Given the description of an element on the screen output the (x, y) to click on. 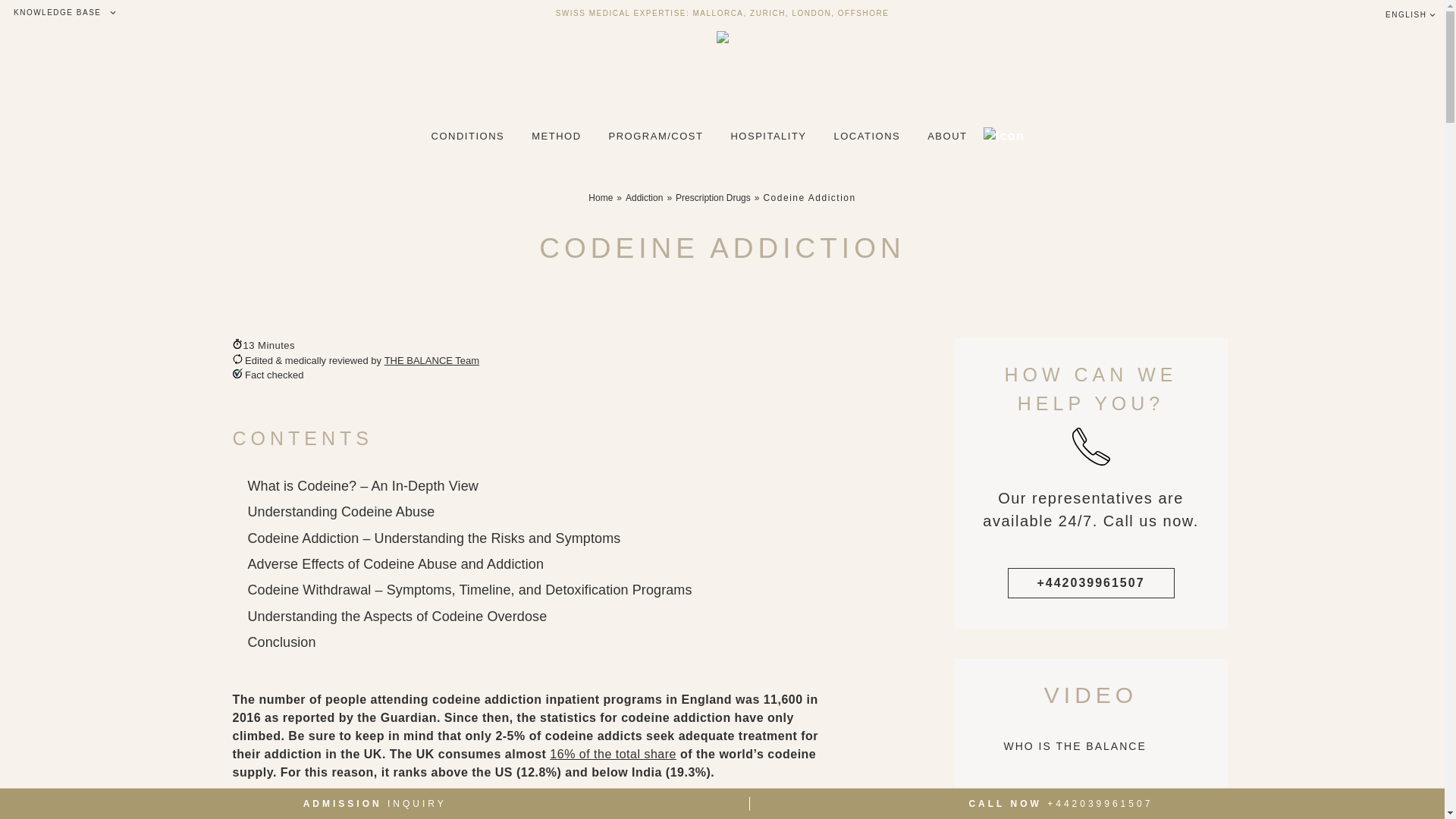
Conclusion (281, 643)
Adverse Effects of Codeine Abuse and Addiction (395, 565)
KNOWLEDGE BASE (59, 12)
Understanding Codeine Abuse (340, 513)
THE BALANCE Luxury Rehab (1090, 788)
